Given the description of an element on the screen output the (x, y) to click on. 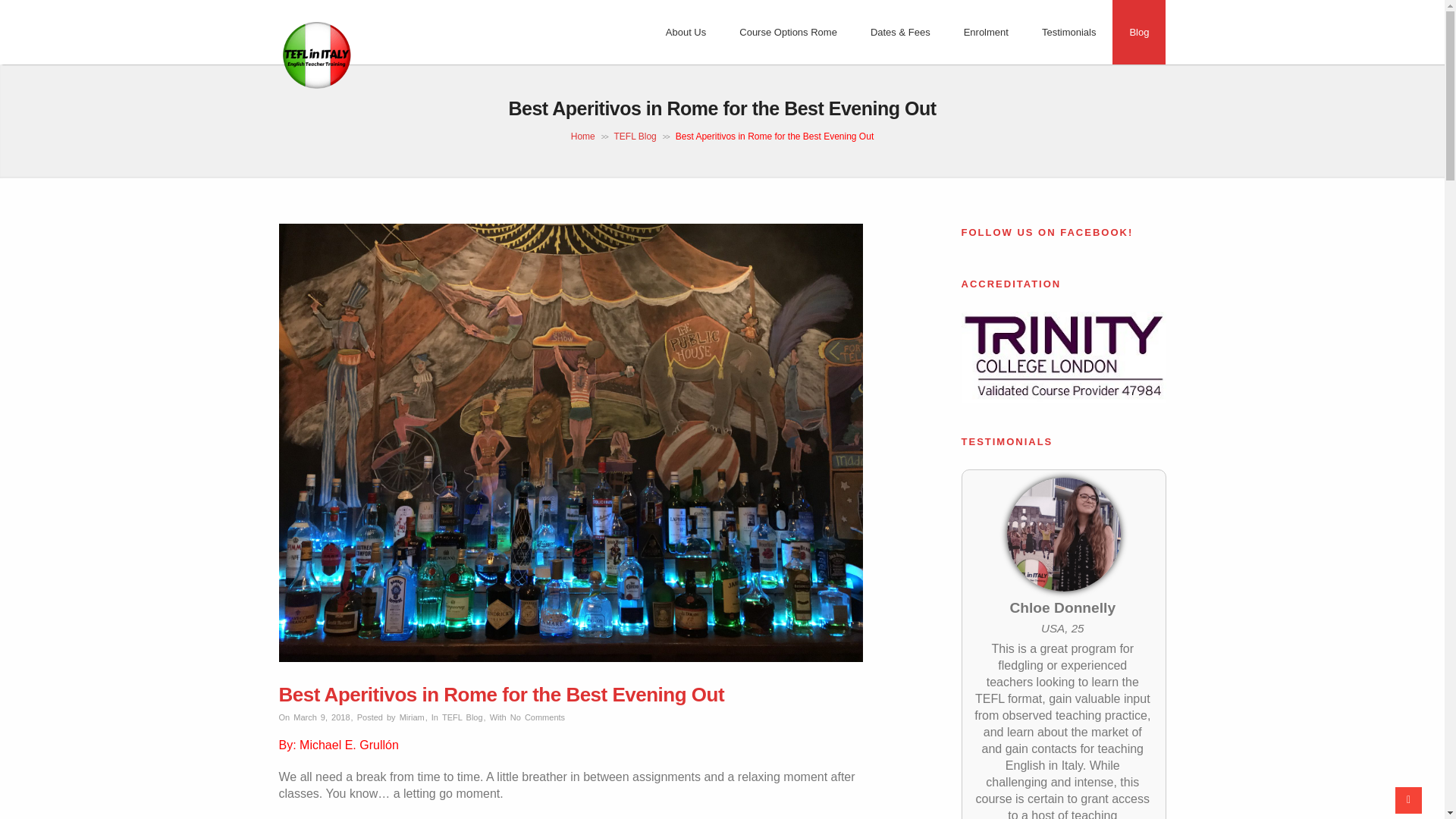
About Us (685, 32)
TEFL Blog (635, 136)
Enrolment (986, 32)
Accreditation (1063, 357)
TEFL in Italy (317, 88)
Course Options Rome (787, 32)
Back To Top (1408, 800)
Miriam (411, 716)
Testimonials (1069, 32)
Posts by Miriam (411, 716)
